Given the description of an element on the screen output the (x, y) to click on. 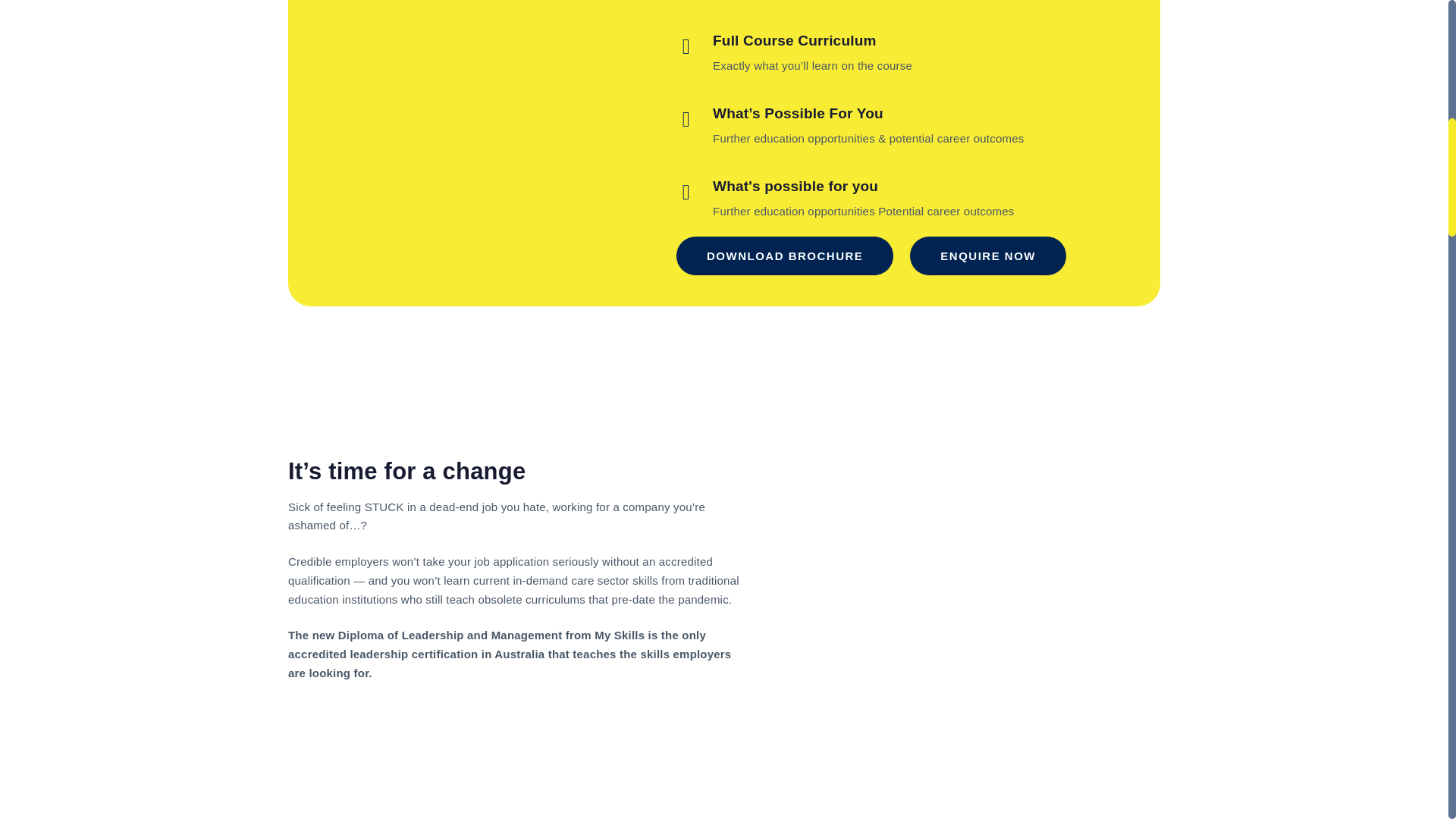
ENQUIRE NOW (987, 255)
DOWNLOAD BROCHURE (784, 255)
